Given the description of an element on the screen output the (x, y) to click on. 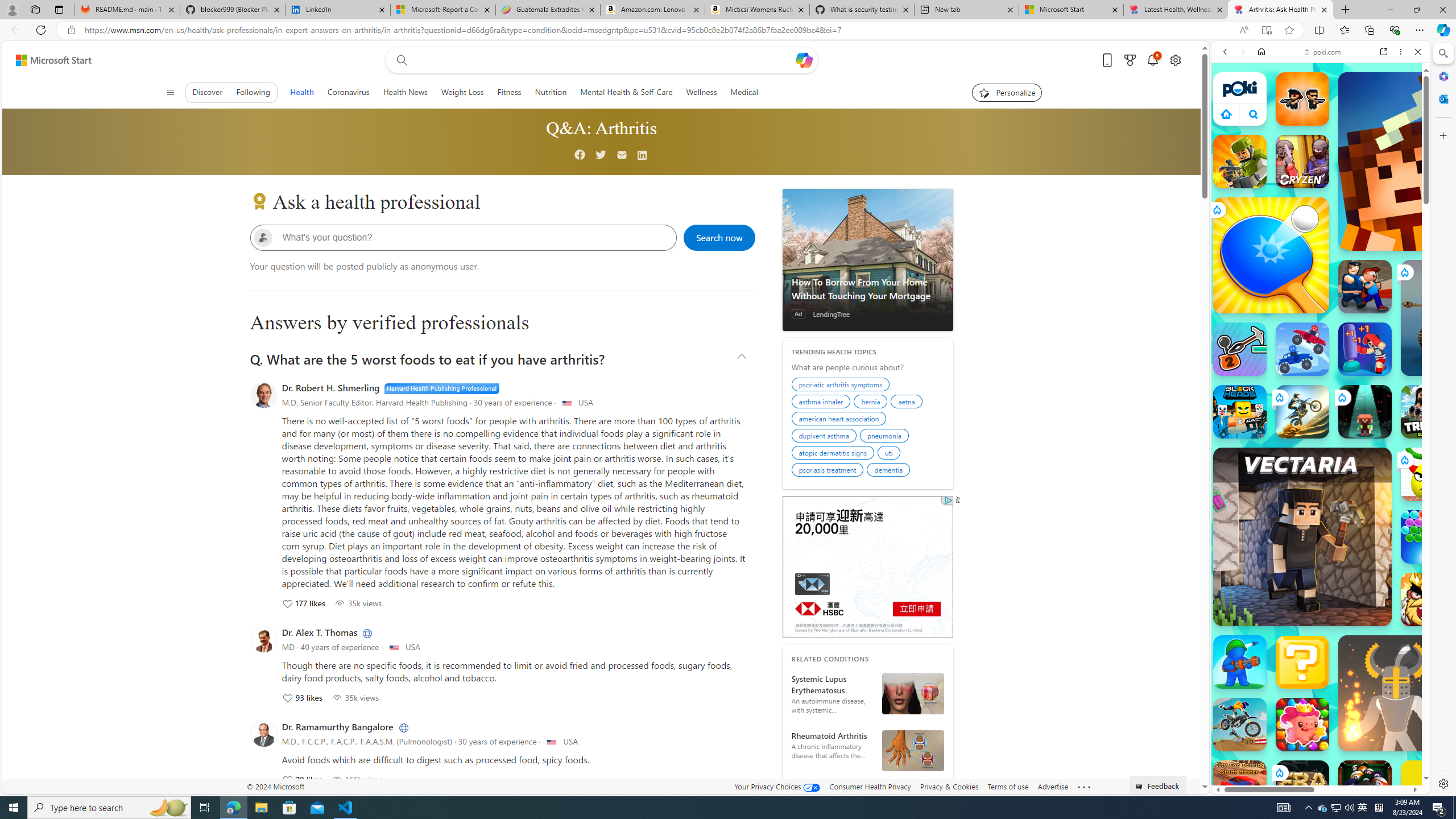
Two Player Games (1320, 323)
Stickman Climb 2 Stickman Climb 2 (1239, 348)
Class: control icon-only (170, 92)
Show More Shooting Games (1390, 296)
Tribals.io (1427, 411)
Mystery Tile (1302, 661)
Battle Wheels (1302, 348)
Search results from poki.com (1299, 443)
